Given the description of an element on the screen output the (x, y) to click on. 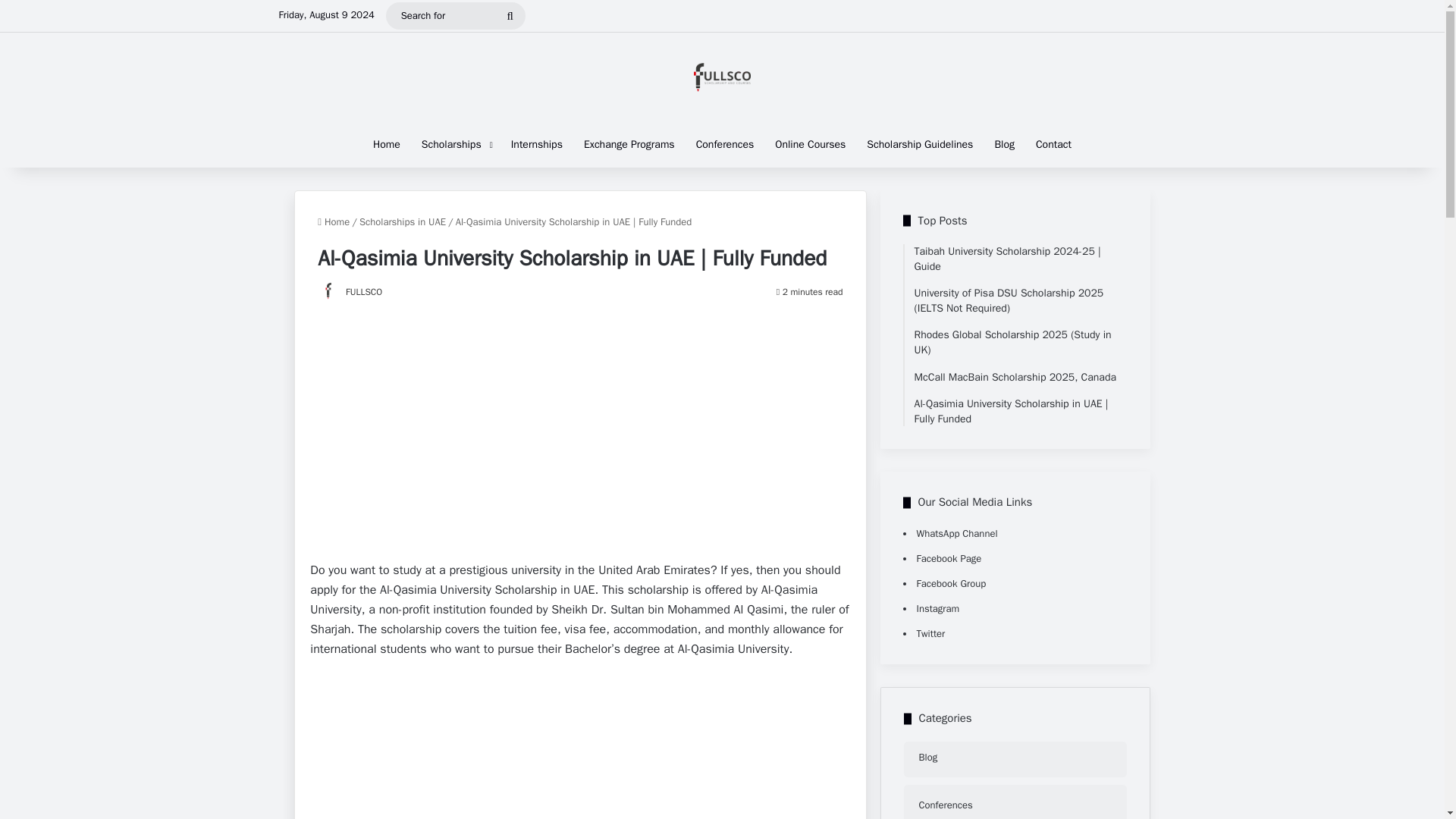
Scholarships (455, 144)
Conferences (725, 144)
Internships (536, 144)
Advertisement (580, 413)
FULLSCO (363, 291)
Exchange Programs (629, 144)
Scholarships in UAE (402, 221)
logo (721, 77)
Scholarship Guidelines (920, 144)
Home (333, 221)
